Given the description of an element on the screen output the (x, y) to click on. 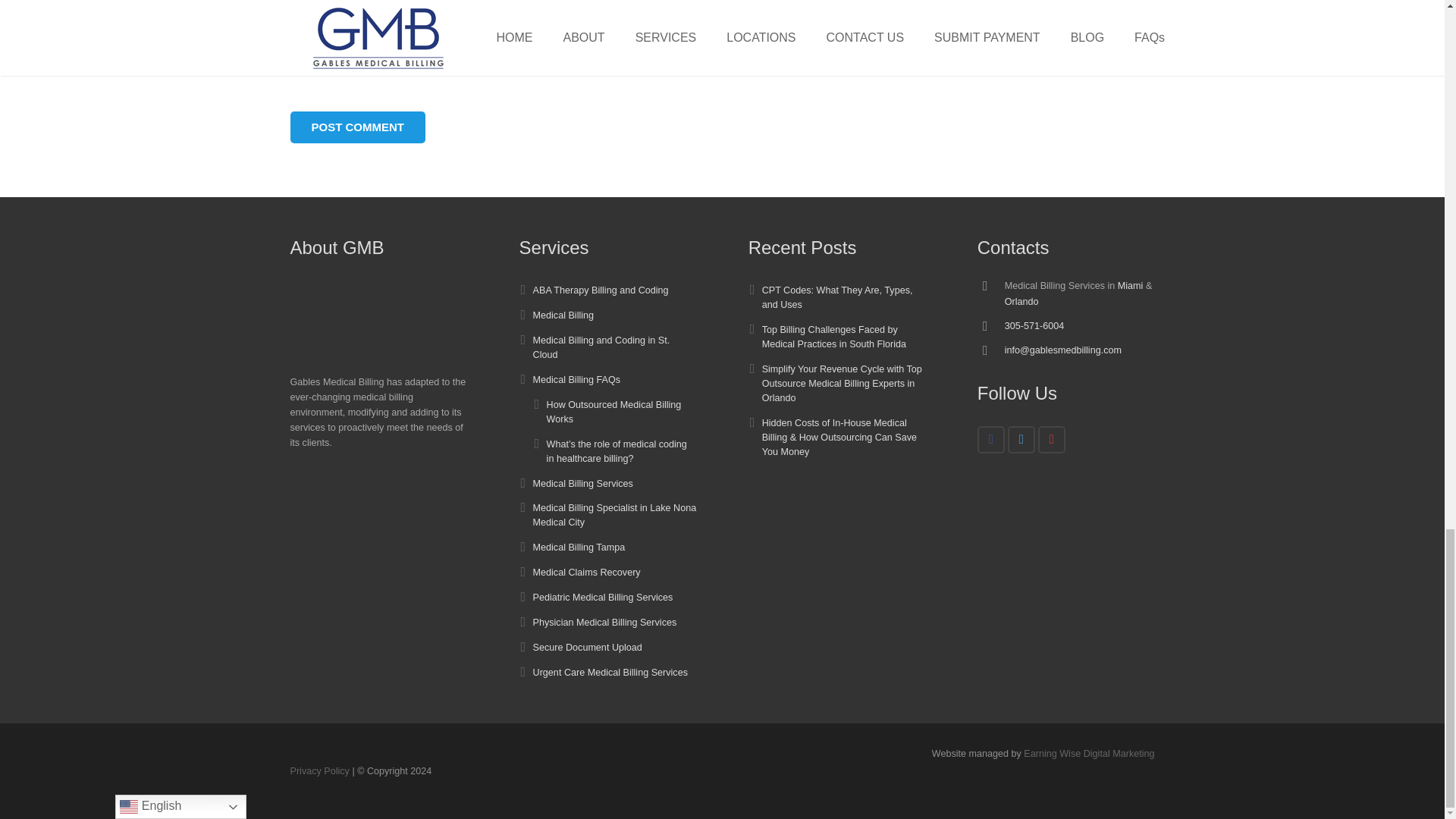
Post Comment (357, 127)
yes (294, 59)
Post Comment (357, 127)
